Given the description of an element on the screen output the (x, y) to click on. 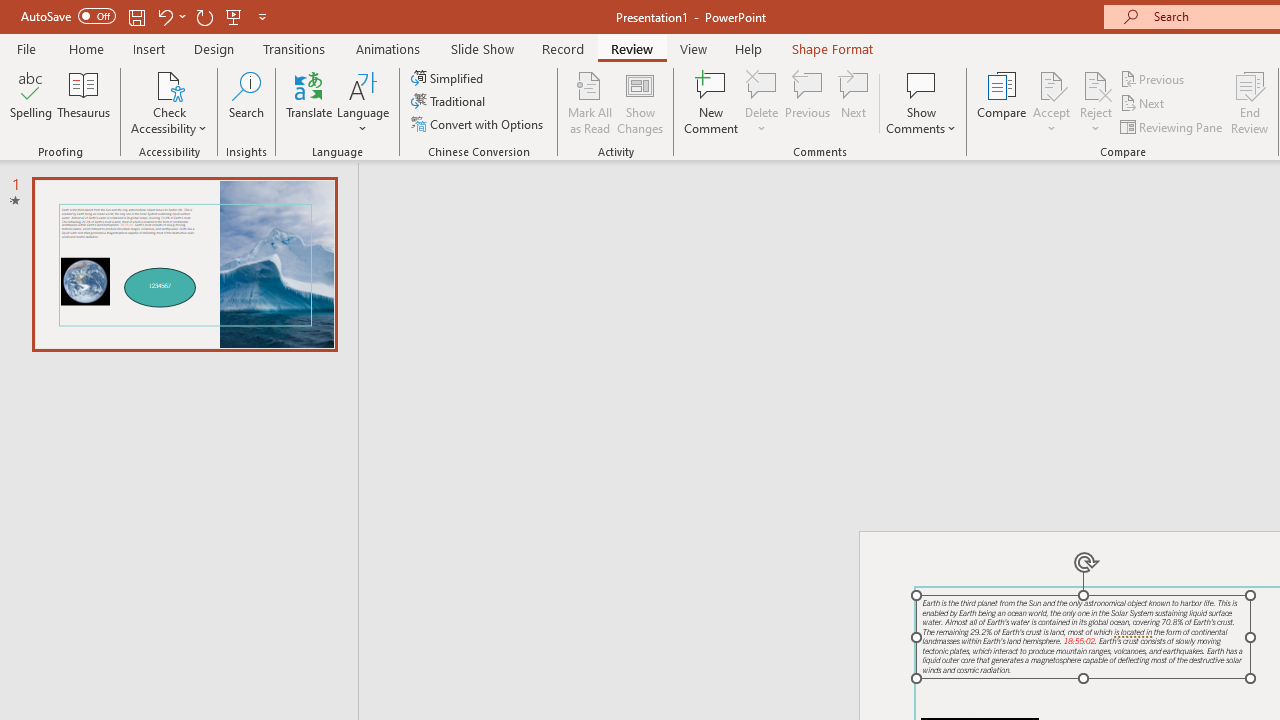
Thesaurus... (83, 102)
Accept (1051, 102)
New Comment (711, 102)
Show Comments (921, 102)
Show Changes (639, 102)
Show Comments (921, 84)
Reviewing Pane (1172, 126)
